Given the description of an element on the screen output the (x, y) to click on. 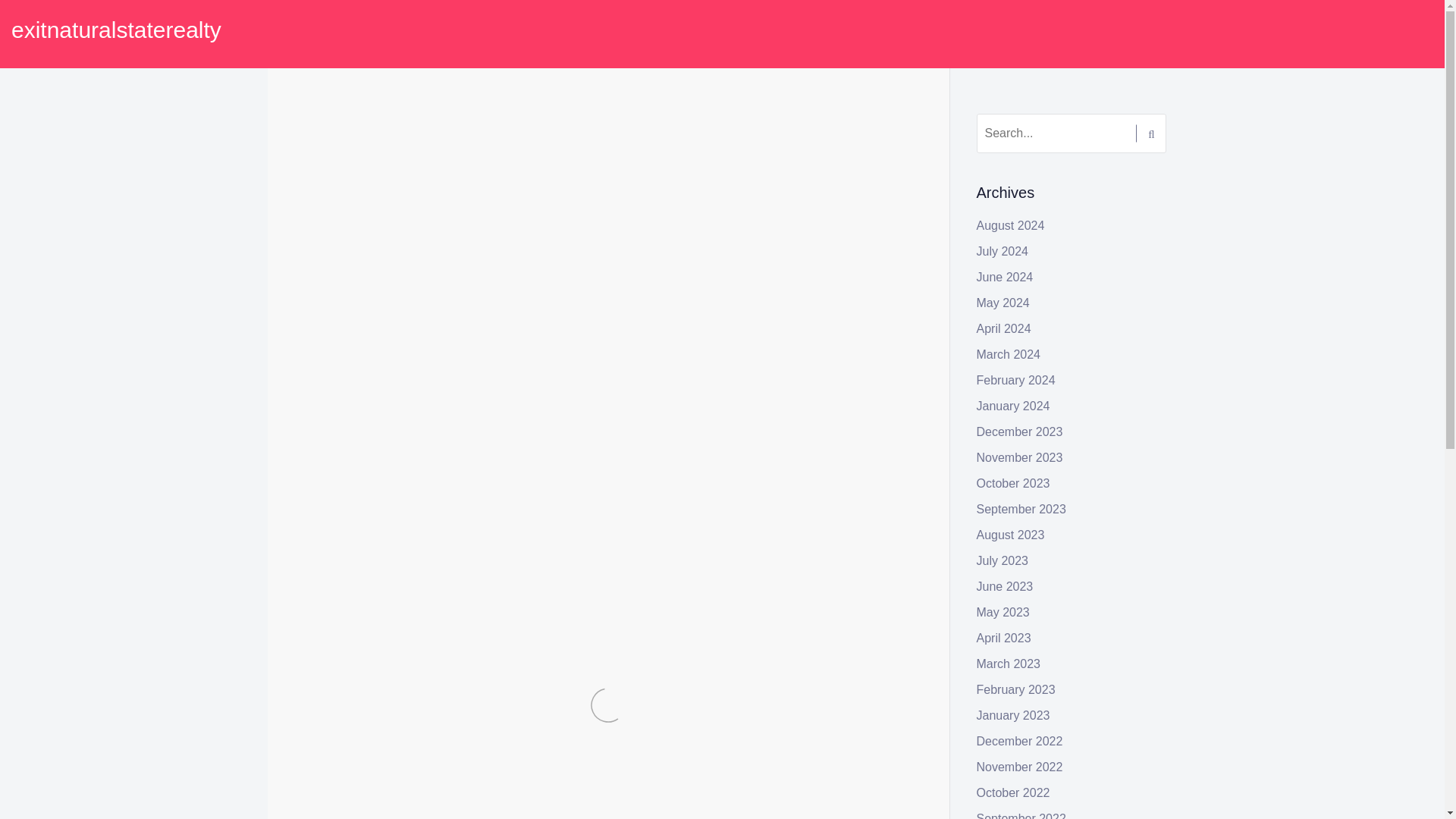
October 2022 (1012, 792)
May 2024 (1002, 302)
April 17, 2023 (339, 143)
April 2023 (1003, 637)
June 2024 (1004, 277)
March 2023 (1008, 663)
November 2023 (1019, 457)
December 2023 (1019, 431)
April 2024 (1003, 328)
January 2024 (1012, 405)
October 2023 (1012, 482)
March 2024 (1008, 354)
June 2023 (1004, 585)
January 2023 (1012, 715)
Admin (405, 143)
